Given the description of an element on the screen output the (x, y) to click on. 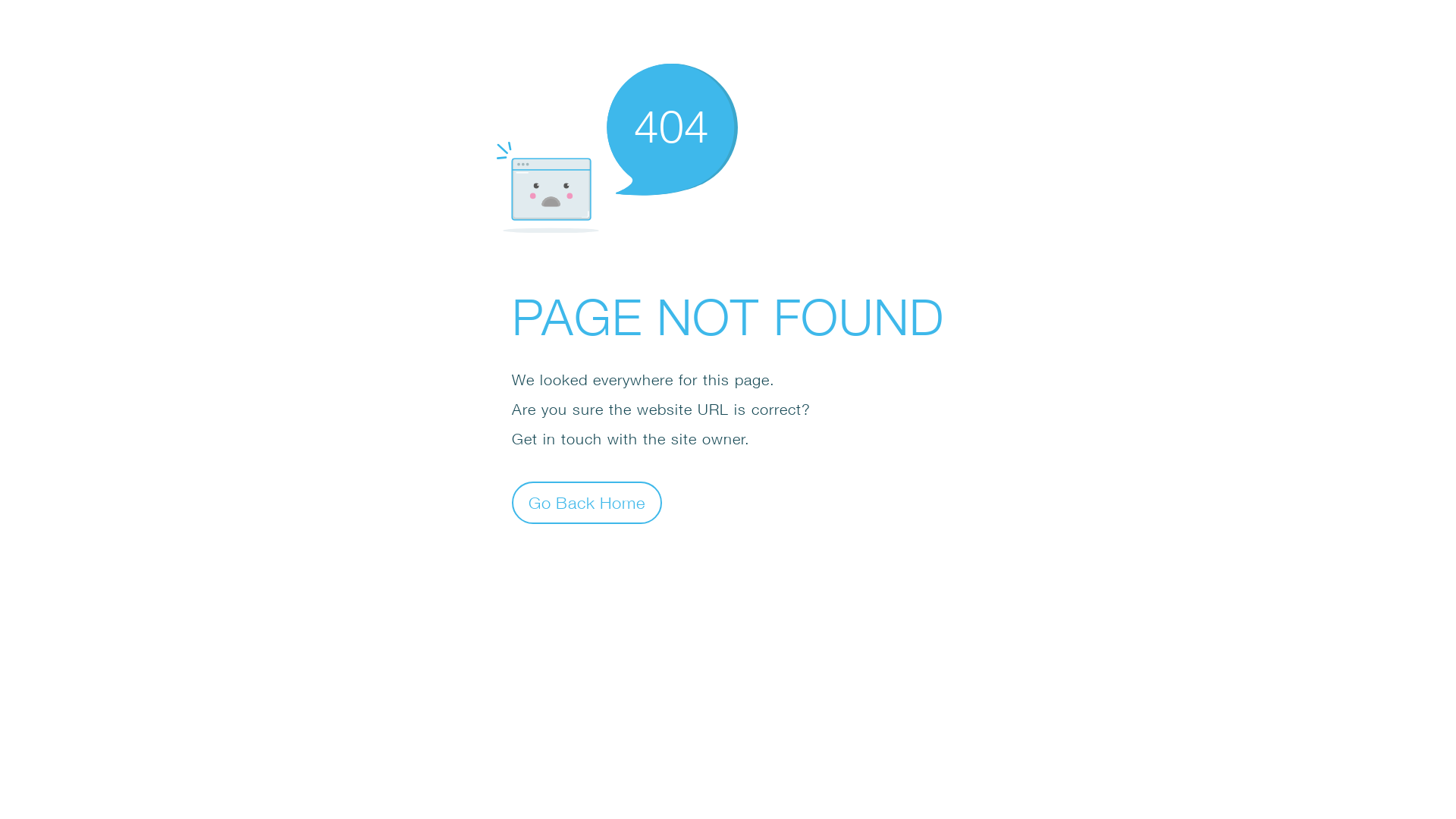
Go Back Home Element type: text (586, 502)
